Given the description of an element on the screen output the (x, y) to click on. 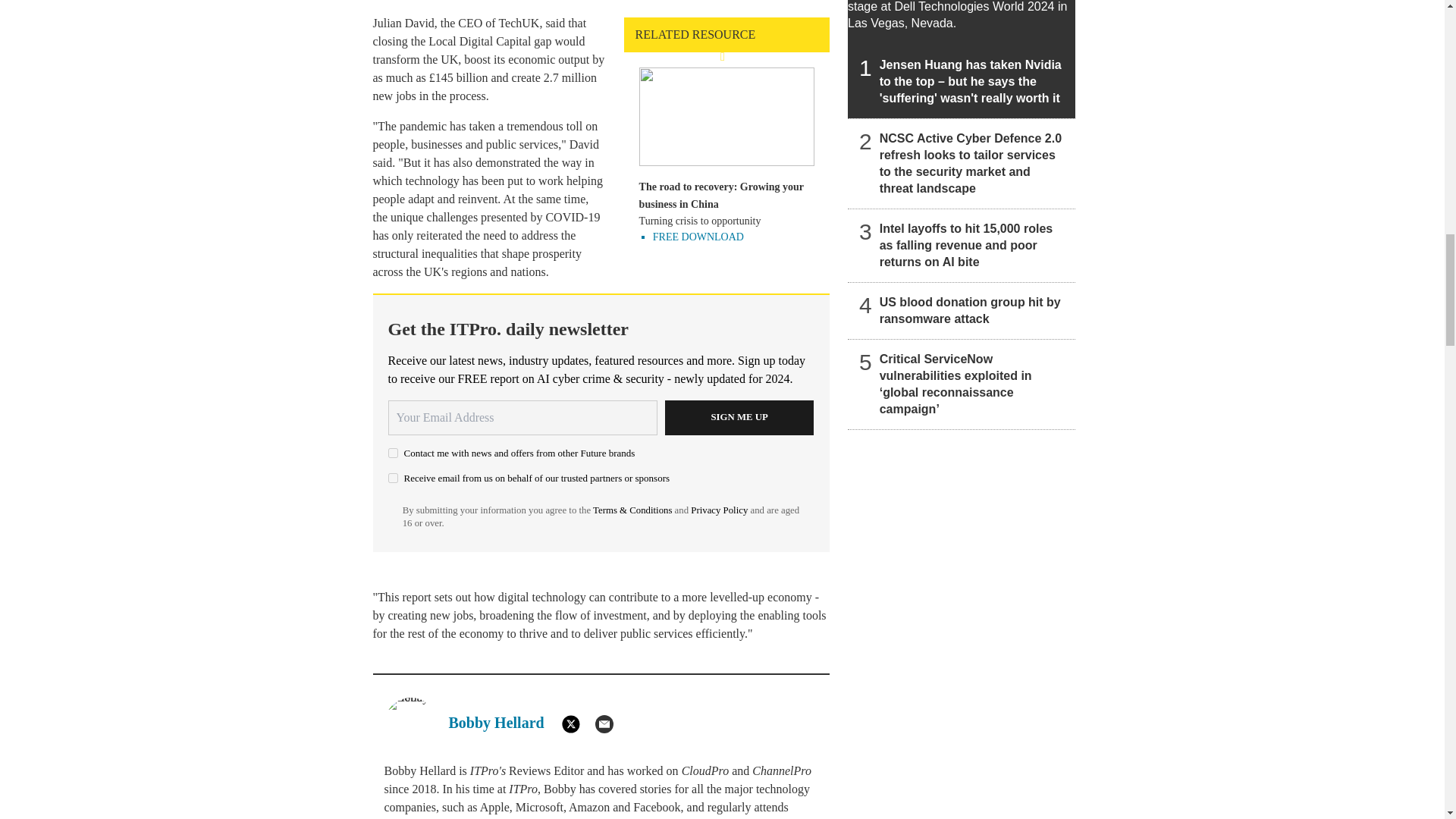
Sign me up (739, 417)
on (392, 452)
on (392, 478)
